Given the description of an element on the screen output the (x, y) to click on. 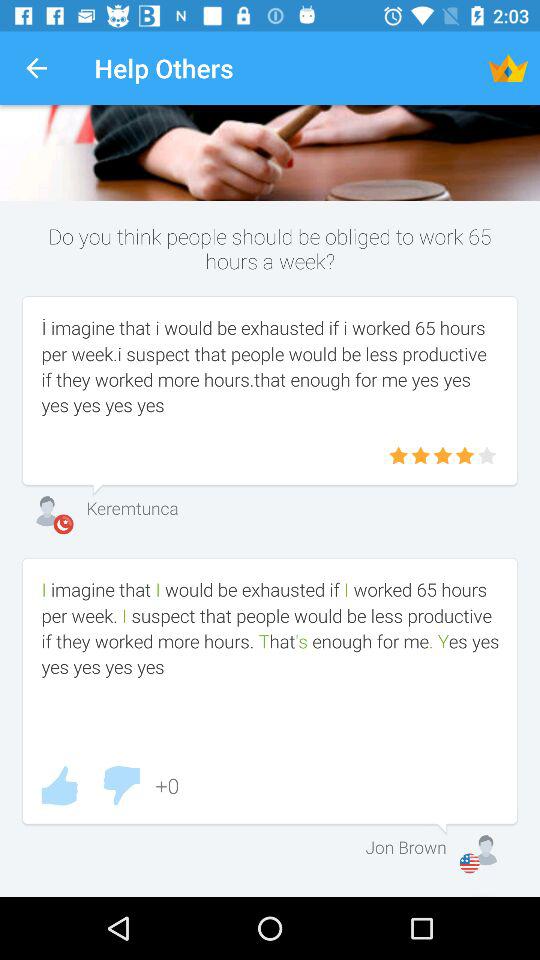
open item next to the help others app (508, 67)
